Given the description of an element on the screen output the (x, y) to click on. 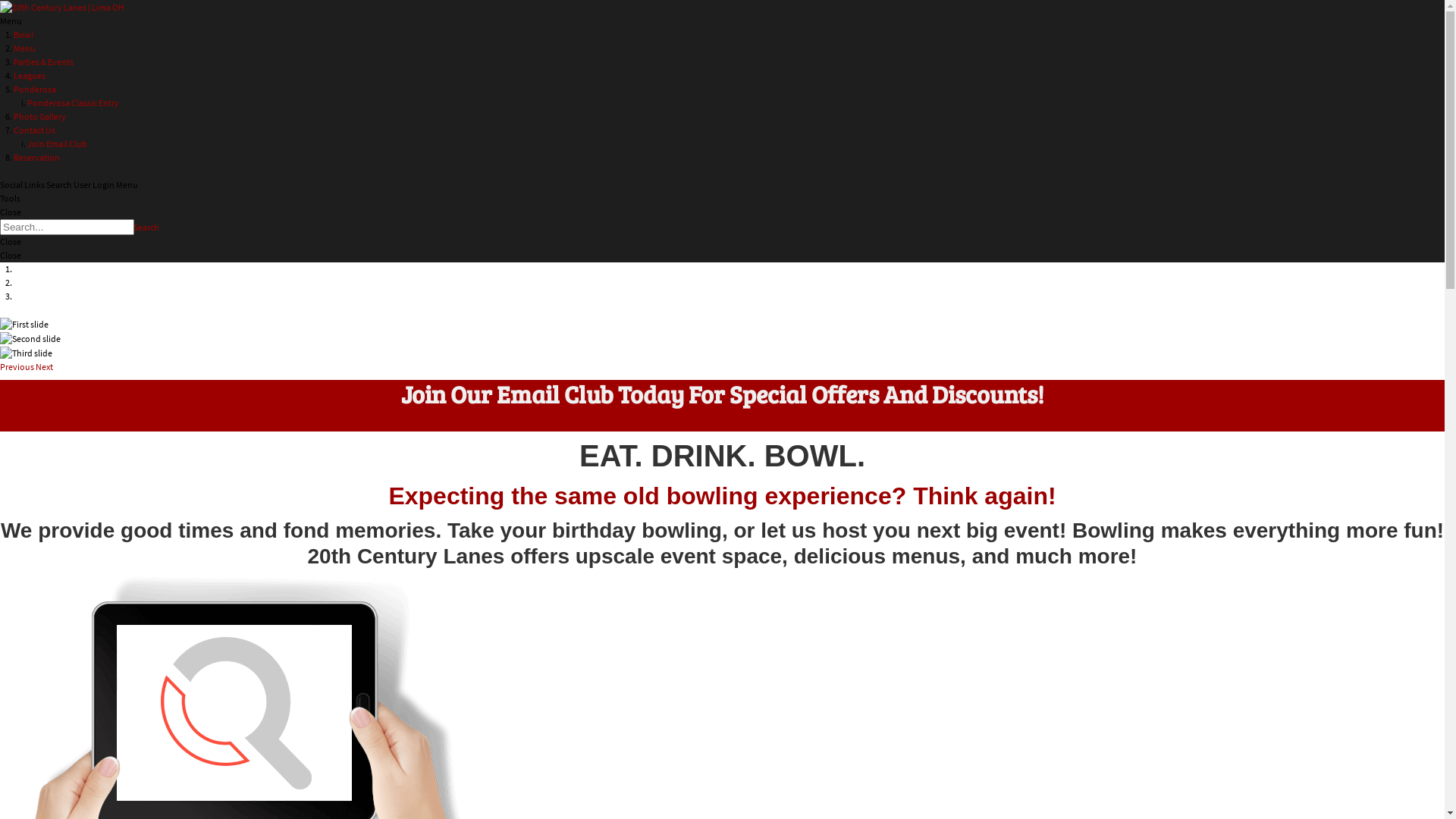
Join Email Club Element type: text (57, 143)
Bowl Element type: text (23, 34)
Menu Element type: text (24, 47)
Ponderosa Classic Entry Element type: text (73, 102)
Search Element type: text (146, 226)
Photo Gallery Element type: text (39, 116)
Contact Us Element type: text (34, 129)
Ponderosa Element type: text (34, 88)
Leagues Element type: text (29, 75)
20th Century Lanes | Lima OH Element type: hover (62, 6)
Next Element type: text (44, 366)
Clear search text Element type: hover (120, 246)
SIGN UP TODAY Element type: text (29, 423)
Parties & Events Element type: text (43, 61)
Previous Element type: text (17, 366)
Reservation Element type: text (36, 157)
